Given the description of an element on the screen output the (x, y) to click on. 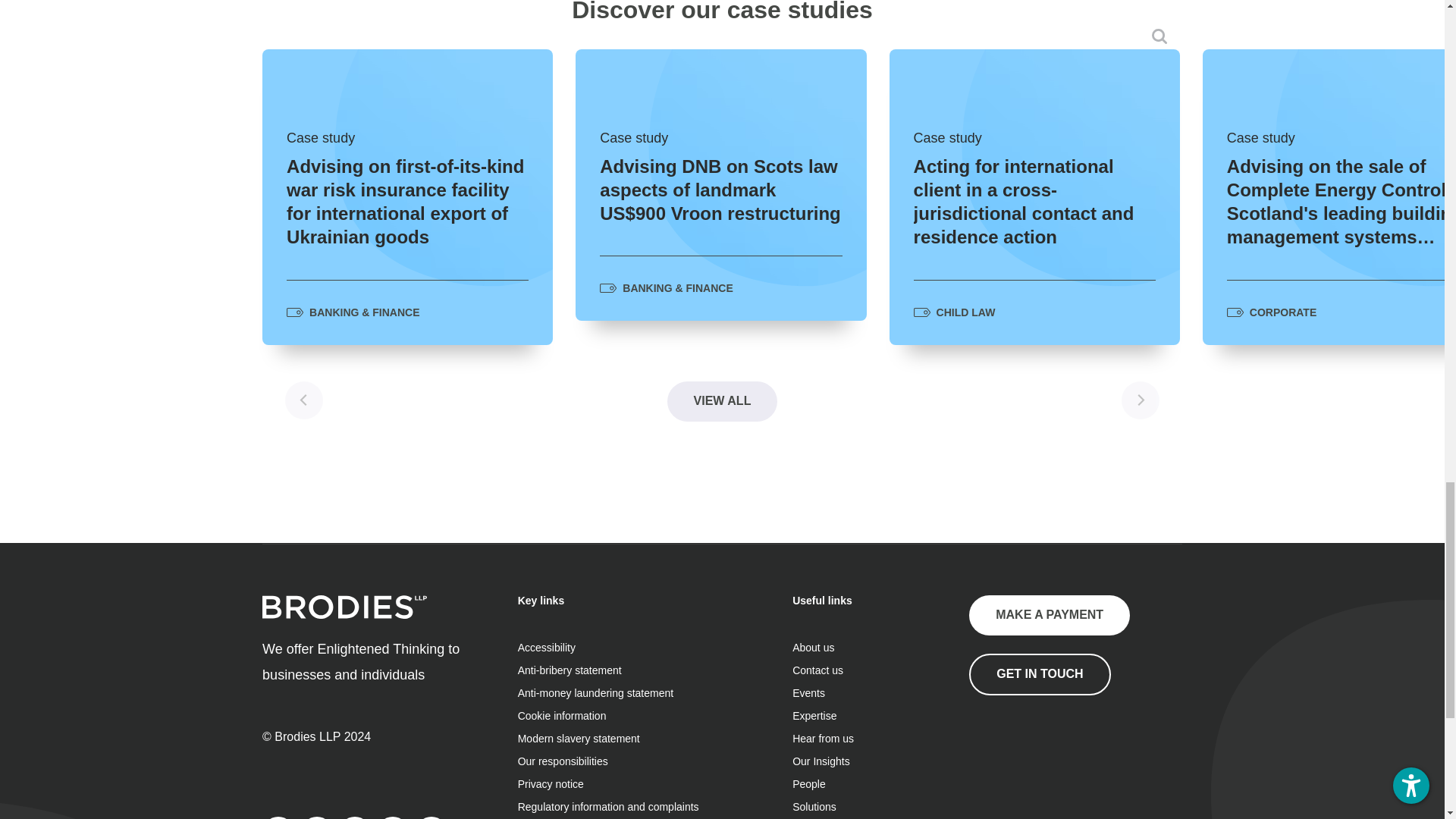
Brodies (344, 607)
Click to return to the homepage (344, 614)
Solicitors Regulation Authority link (1045, 766)
